Given the description of an element on the screen output the (x, y) to click on. 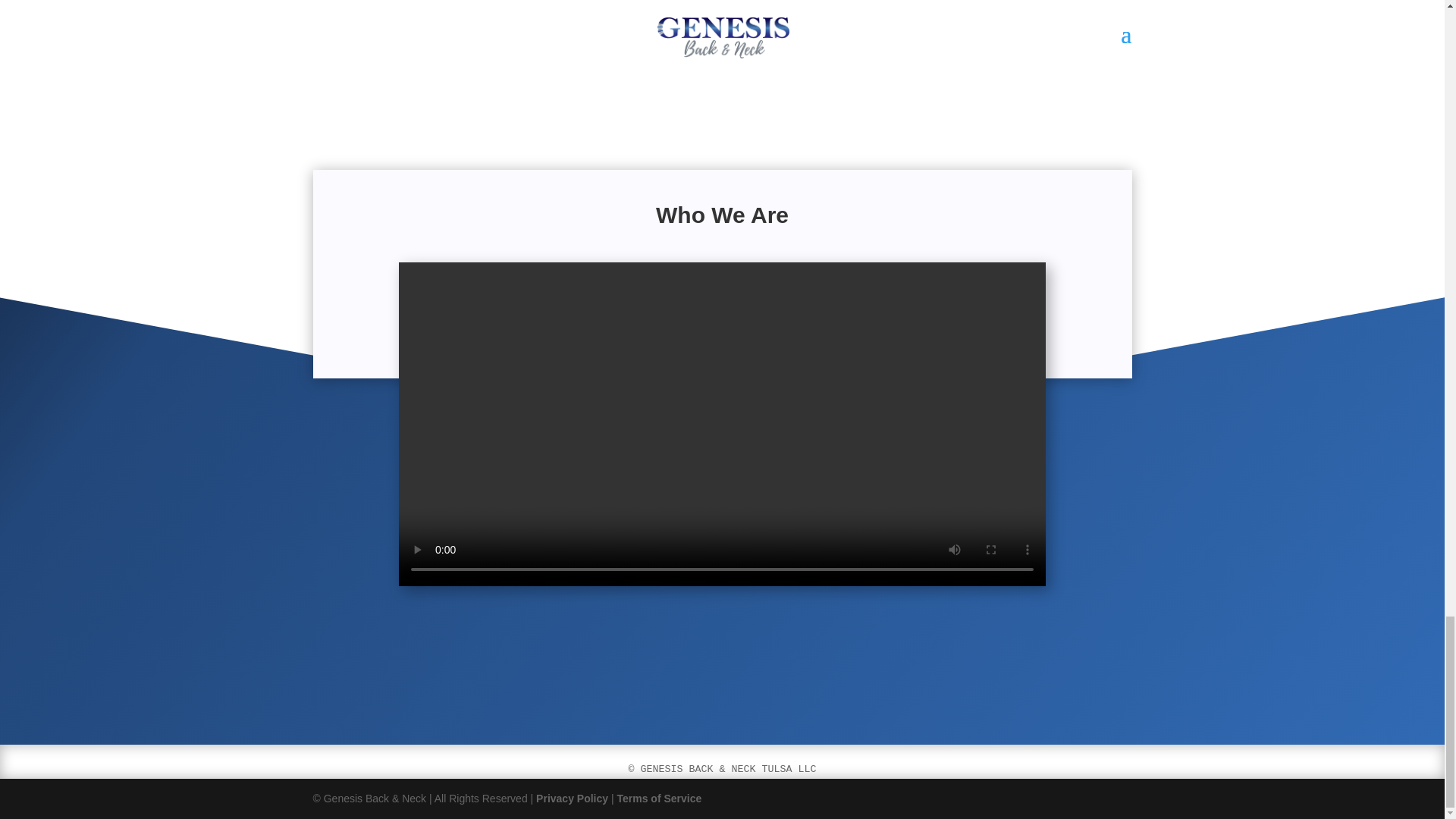
Page 1 (722, 769)
Privacy Policy (571, 798)
genesis-back-dr-travis (419, 89)
Terms of Service (658, 798)
